Given the description of an element on the screen output the (x, y) to click on. 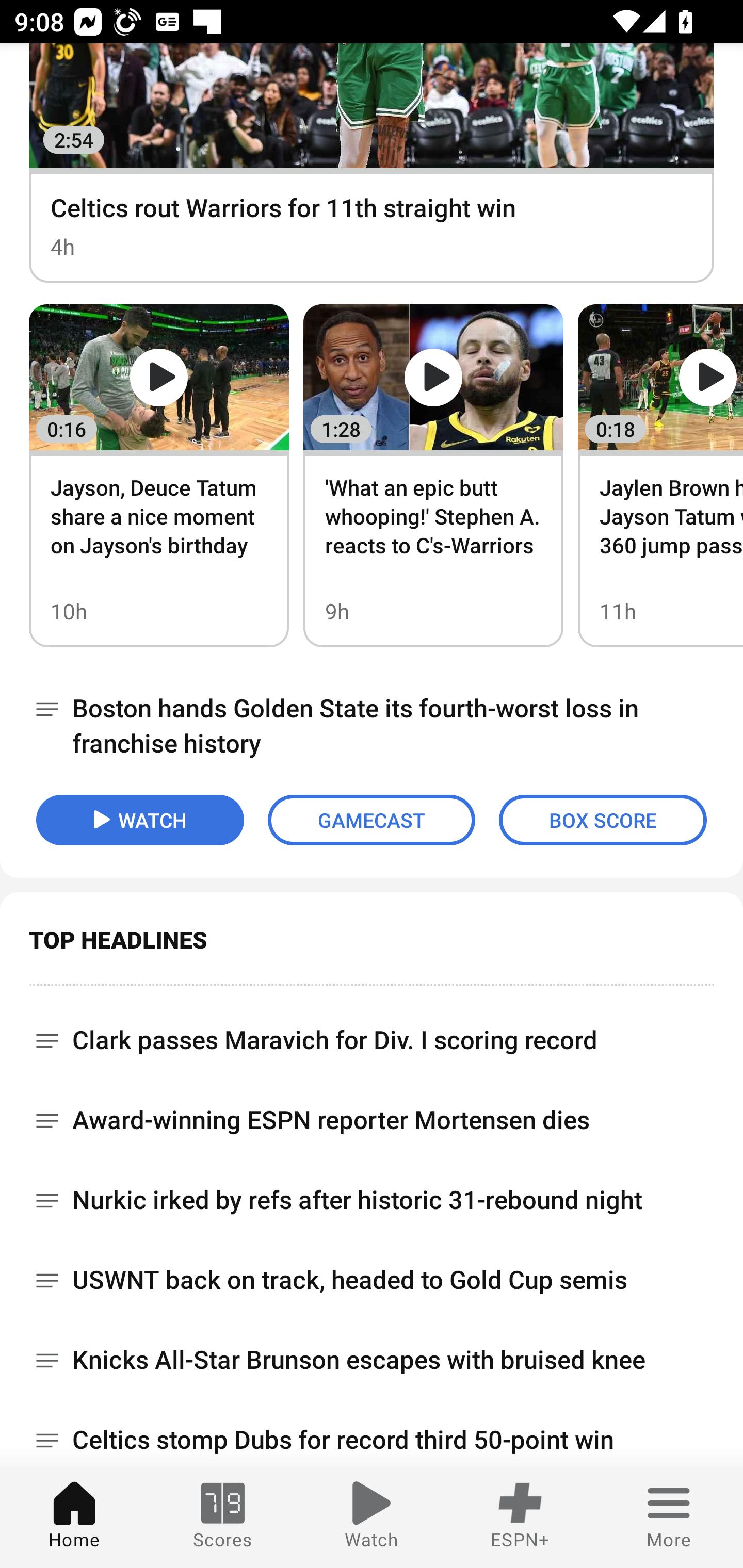
 WATCH (139, 819)
GAMECAST (371, 819)
BOX SCORE (602, 819)
 Clark passes Maravich for Div. I scoring record (371, 1033)
 Award-winning ESPN reporter Mortensen dies (371, 1120)
 USWNT back on track, headed to Gold Cup semis (371, 1280)
 Celtics stomp Dubs for record third 50-point win (371, 1433)
Scores (222, 1517)
Watch (371, 1517)
ESPN+ (519, 1517)
More (668, 1517)
